Given the description of an element on the screen output the (x, y) to click on. 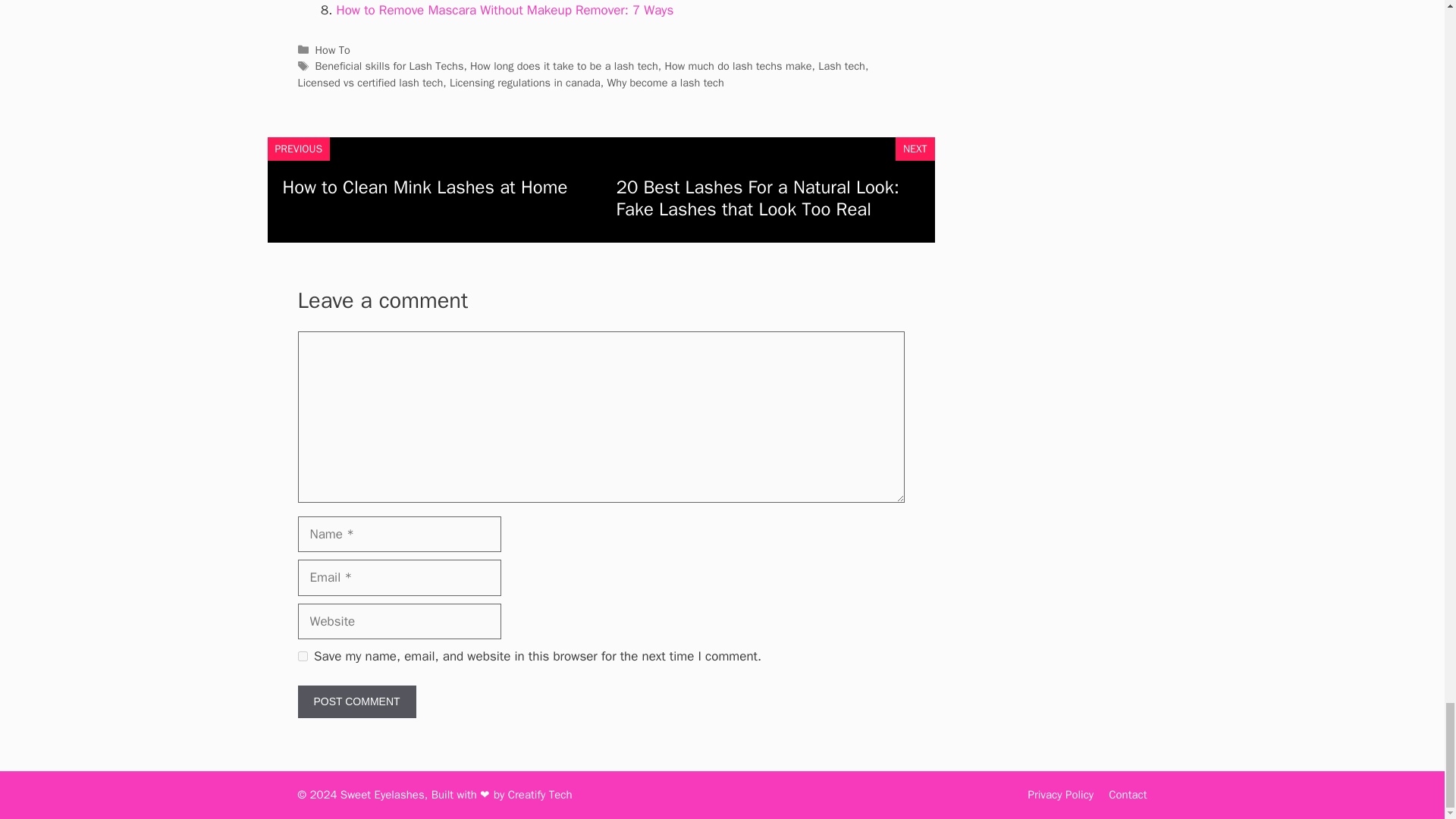
Post Comment (355, 701)
Beneficial skills for Lash Techs (389, 65)
How to Remove Mascara Without Makeup Remover: 7 Ways (505, 10)
How much do lash techs make (736, 65)
How To (332, 49)
How to Remove Mascara Without Makeup Remover: 7 Ways (505, 10)
yes (302, 655)
Lash tech (841, 65)
Licensing regulations in canada (524, 82)
How long does it take to be a lash tech (564, 65)
Licensed vs certified lash tech (369, 82)
